Given the description of an element on the screen output the (x, y) to click on. 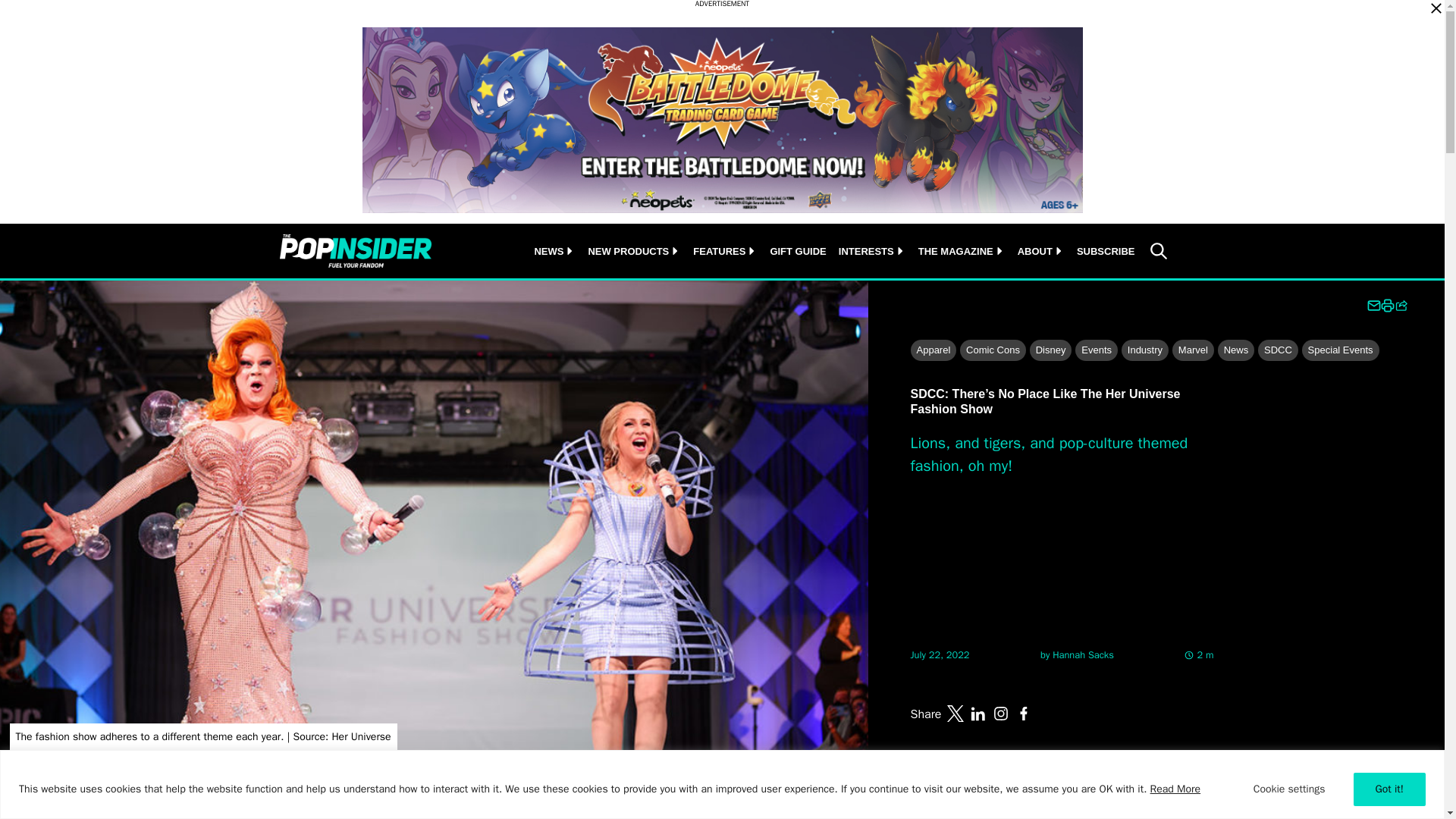
Open facebook in a new window (1023, 713)
Go to News (1236, 350)
Open linkedin in a new window (978, 713)
Go to Disney (1050, 350)
Go to Comic Cons (992, 350)
INTERESTS (865, 251)
Go to Special Events (1339, 350)
Read More (1175, 788)
FEATURES (719, 251)
Go to:  (1082, 654)
Open x in a new window (955, 713)
Open instagram in a new window (1000, 713)
Go to Events (1096, 350)
Go to Marvel (1193, 350)
Go to Apparel (933, 350)
